Given the description of an element on the screen output the (x, y) to click on. 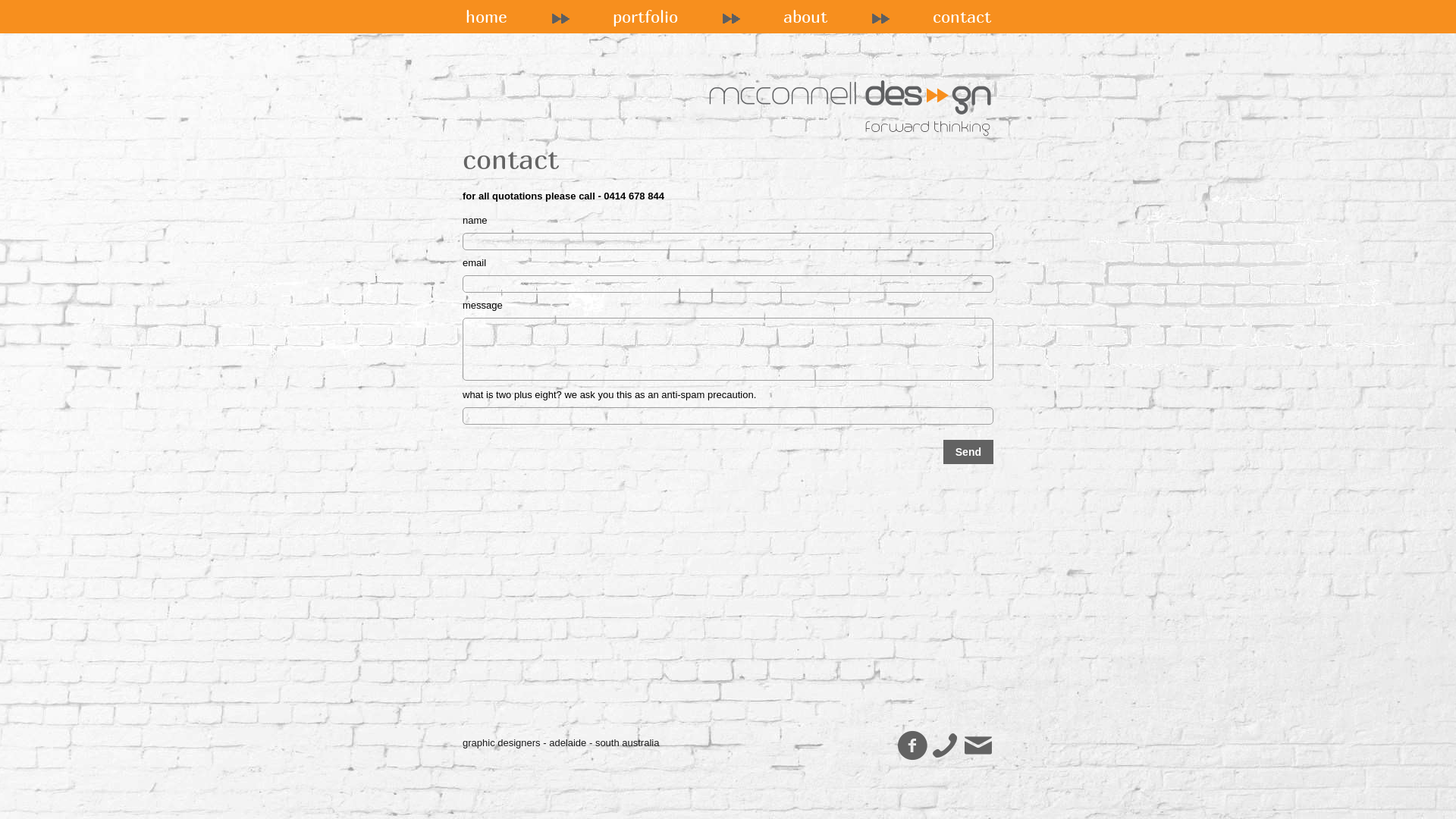
Phone on 0414678844 Element type: hover (944, 746)
Contact us Element type: hover (978, 746)
McConnell Design Element type: hover (849, 93)
Send Element type: text (968, 451)
about Element type: text (804, 16)
portfolio Element type: text (644, 16)
contact Element type: text (961, 16)
Find us on Facebook Element type: hover (912, 746)
home Element type: text (486, 16)
